Given the description of an element on the screen output the (x, y) to click on. 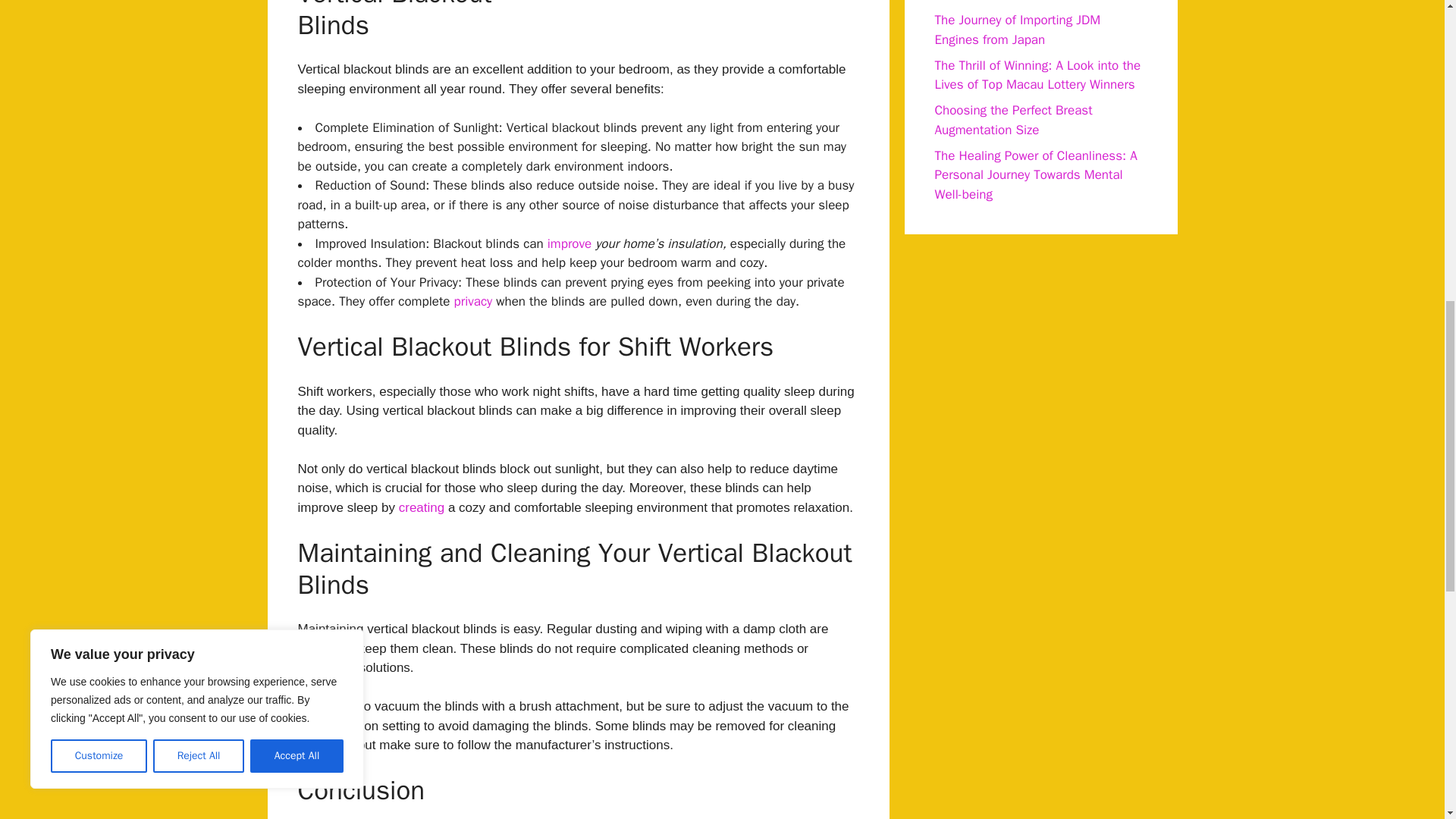
creating (421, 507)
privacy (473, 301)
improve (569, 243)
